Given the description of an element on the screen output the (x, y) to click on. 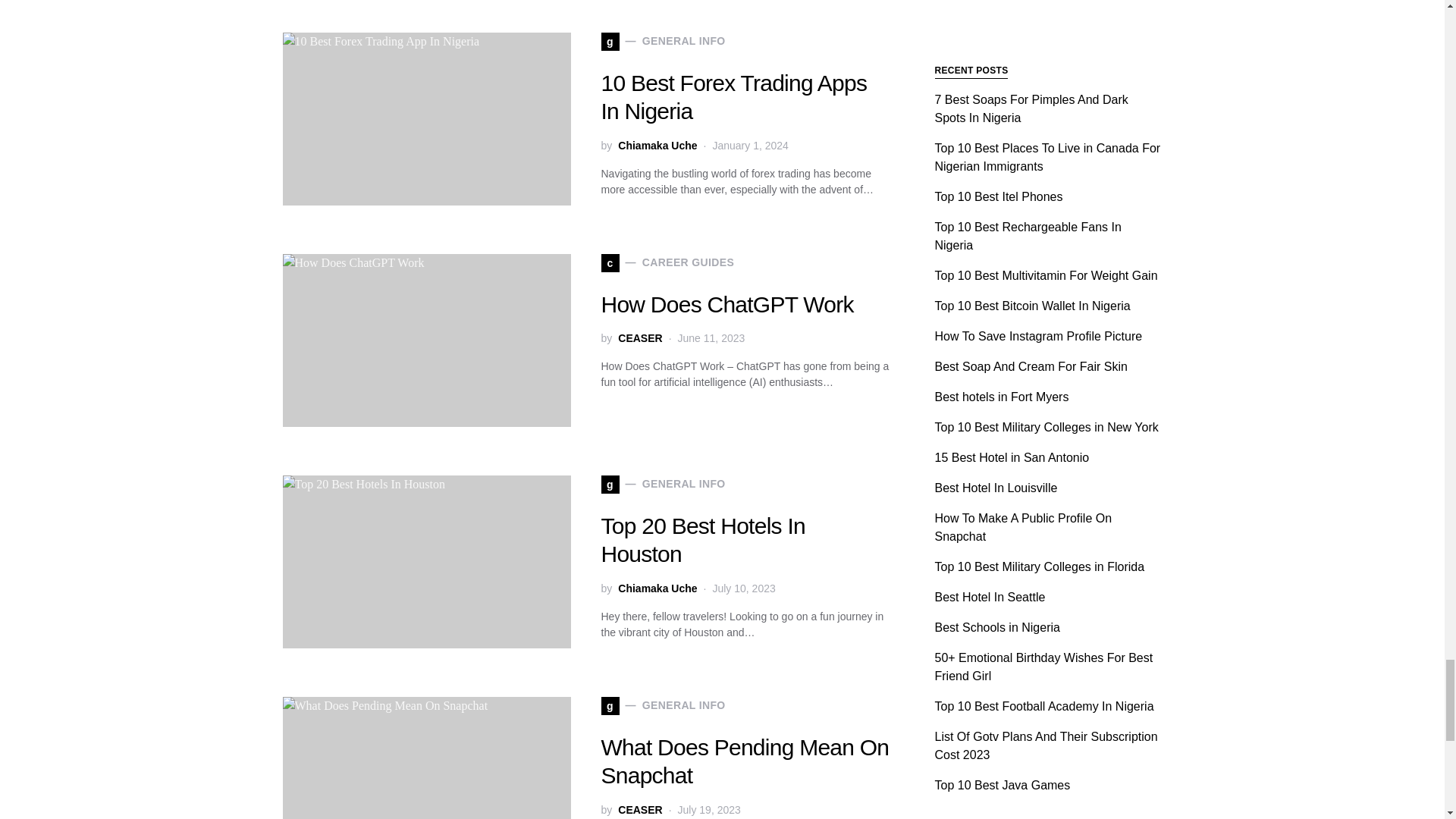
Top 20 Best Hotels In Houston 5 (426, 561)
View all posts by Chiamaka Uche (657, 588)
What Does Pending Mean On Snapchat 6 (426, 757)
10 Best Forex Trading Apps In Nigeria 3 (426, 118)
View all posts by CEASER (639, 810)
View all posts by CEASER (639, 338)
How Does ChatGPT Work 4 (426, 339)
View all posts by Chiamaka Uche (657, 145)
